Given the description of an element on the screen output the (x, y) to click on. 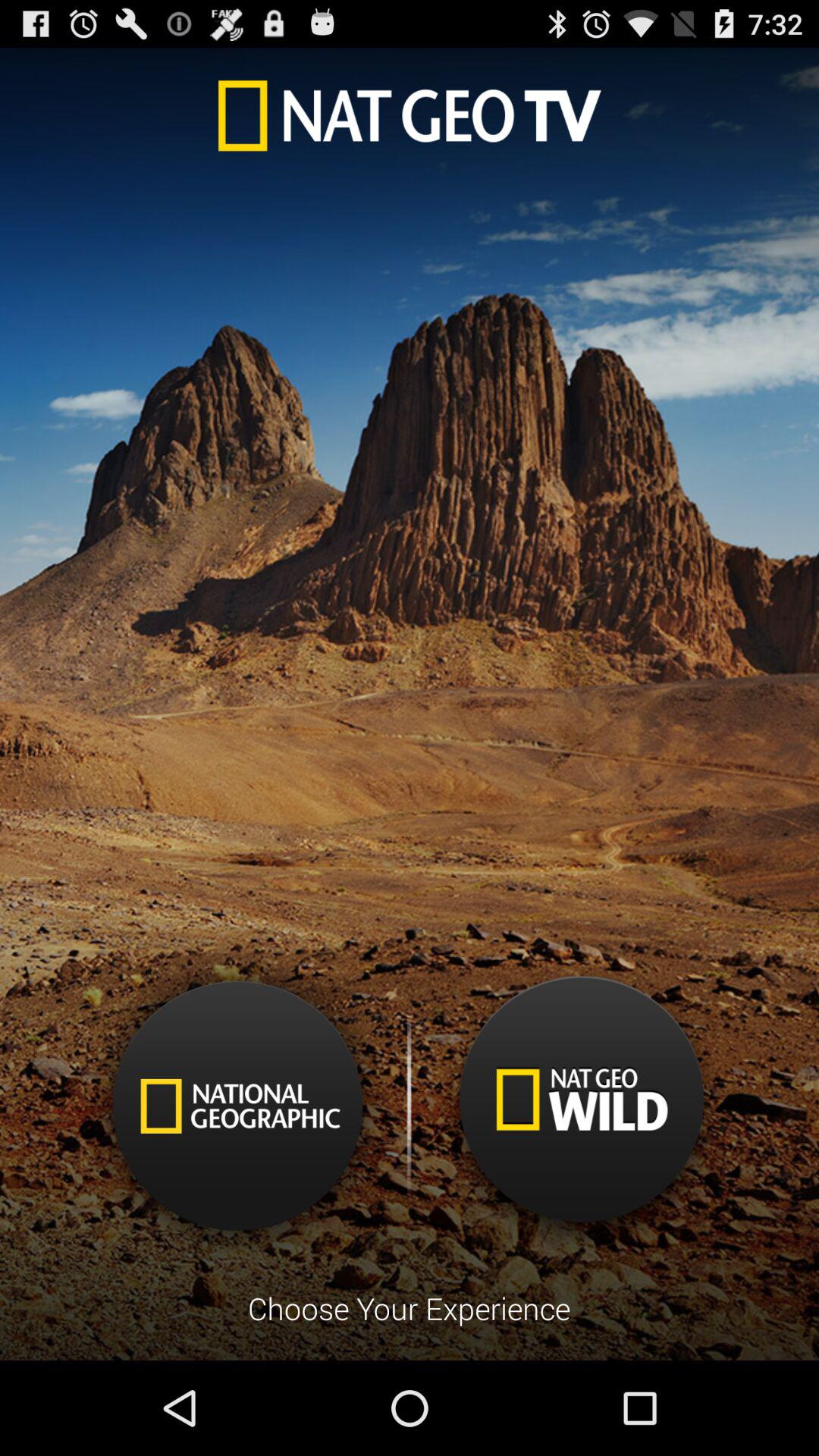
takes you to the national geographic channel (237, 1105)
